Given the description of an element on the screen output the (x, y) to click on. 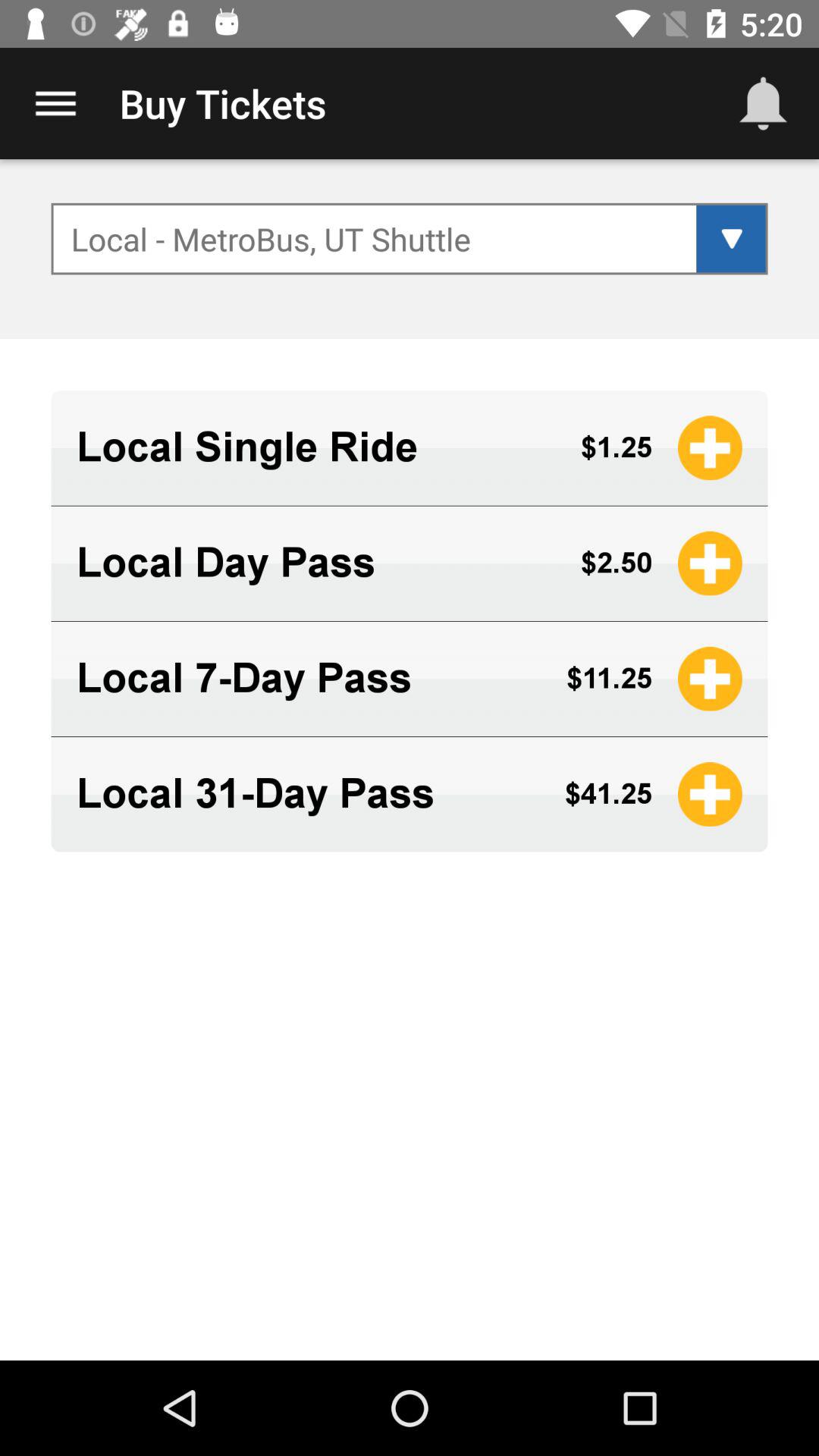
turn on app above local metrobus ut item (55, 103)
